Given the description of an element on the screen output the (x, y) to click on. 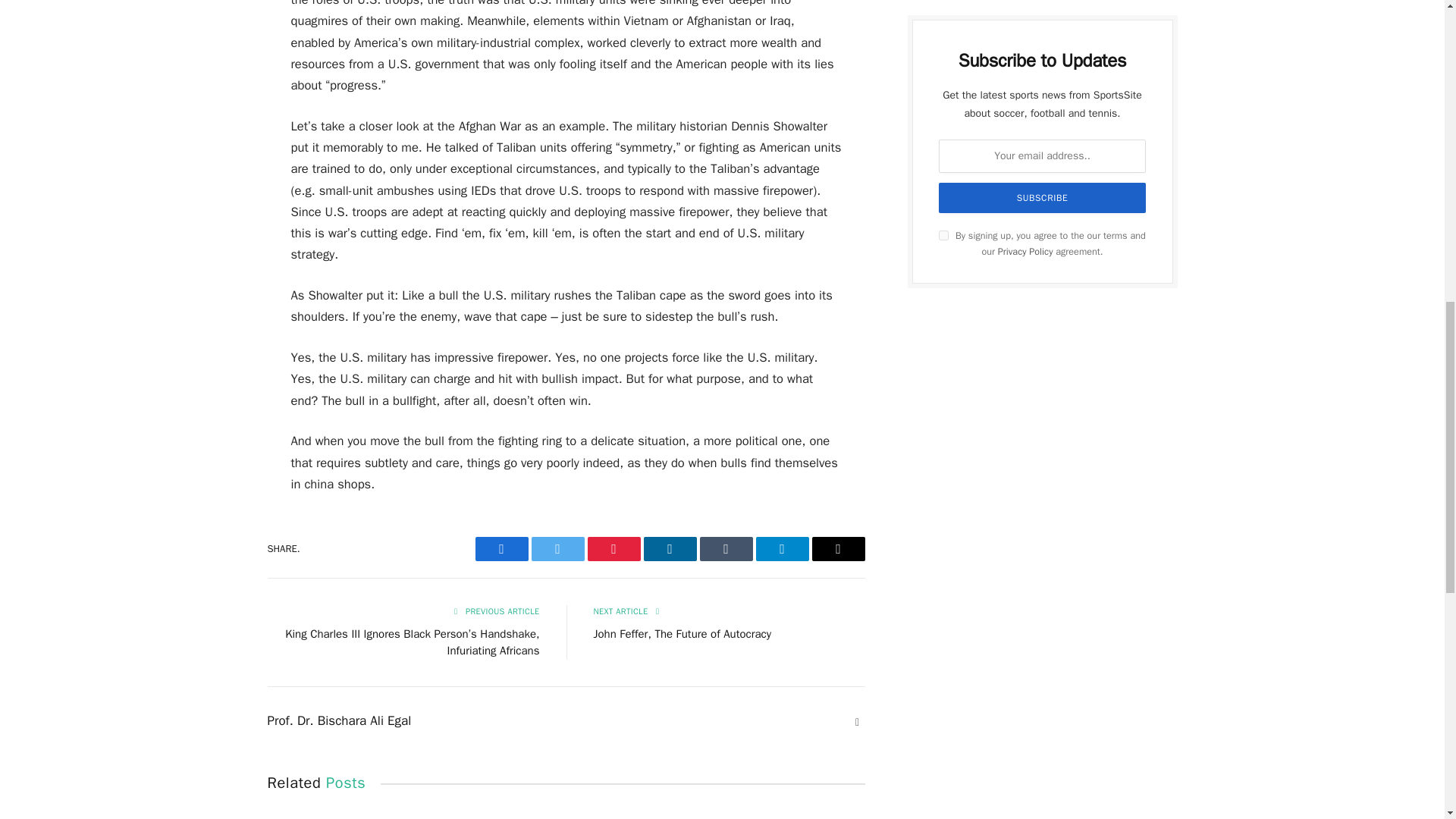
on (944, 235)
Subscribe (1043, 197)
